Given the description of an element on the screen output the (x, y) to click on. 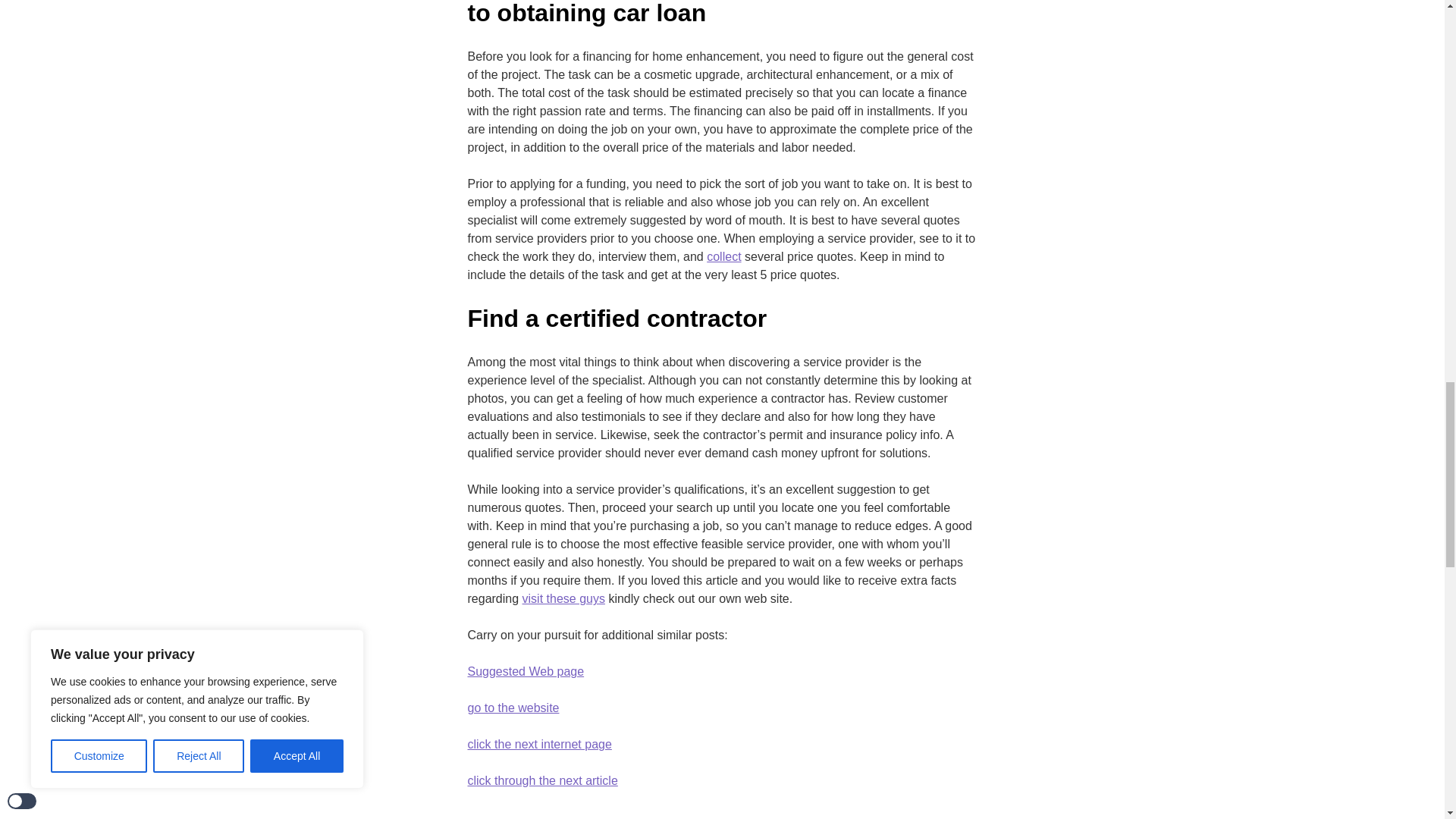
collect (723, 257)
Suggested Web page (525, 671)
visit these guys (563, 598)
go to the website (513, 708)
click through the next article (542, 781)
click the next internet page (539, 744)
